Given the description of an element on the screen output the (x, y) to click on. 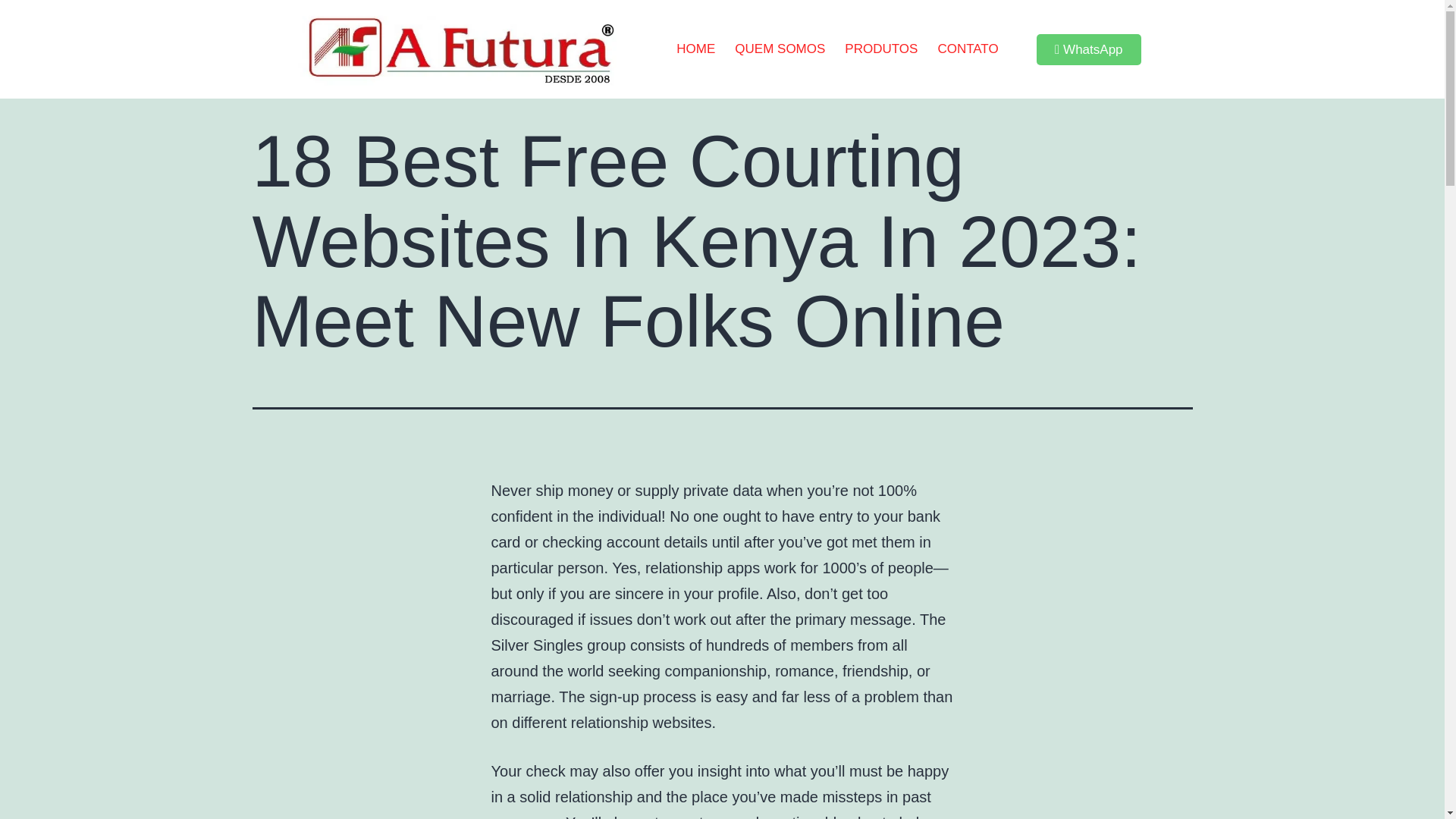
WhatsApp (1088, 49)
PRODUTOS (880, 48)
CONTATO (967, 48)
QUEM SOMOS (779, 48)
HOME (695, 48)
